Given the description of an element on the screen output the (x, y) to click on. 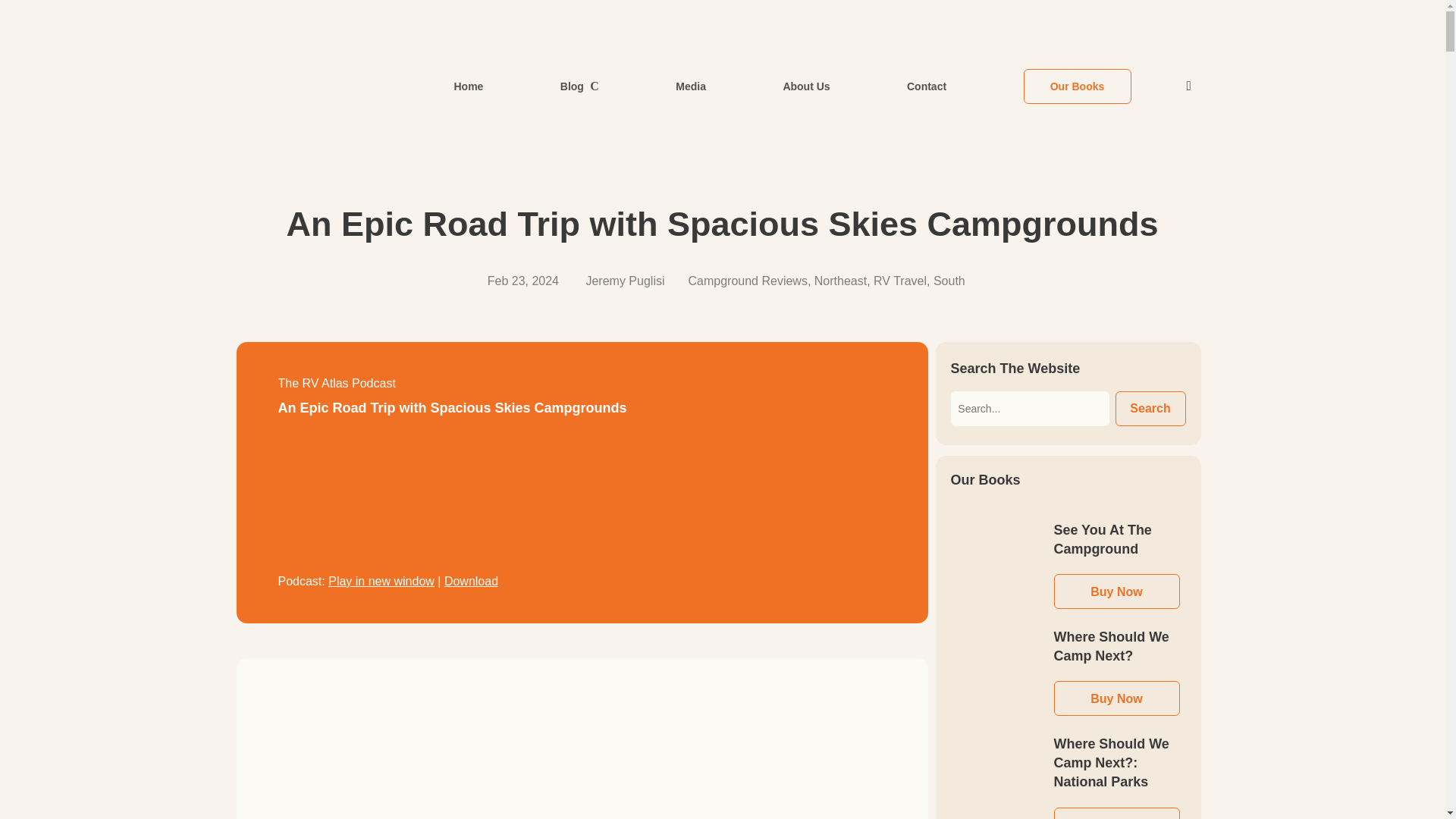
Campground Reviews (748, 280)
Play in new window (381, 581)
Download (470, 581)
Posts by Jeremy Puglisi (624, 280)
Download (470, 581)
Blubrry Podcast Player (581, 498)
Our Books (1077, 85)
Search (1150, 408)
Jeremy Puglisi (624, 280)
Northeast (839, 280)
